Given the description of an element on the screen output the (x, y) to click on. 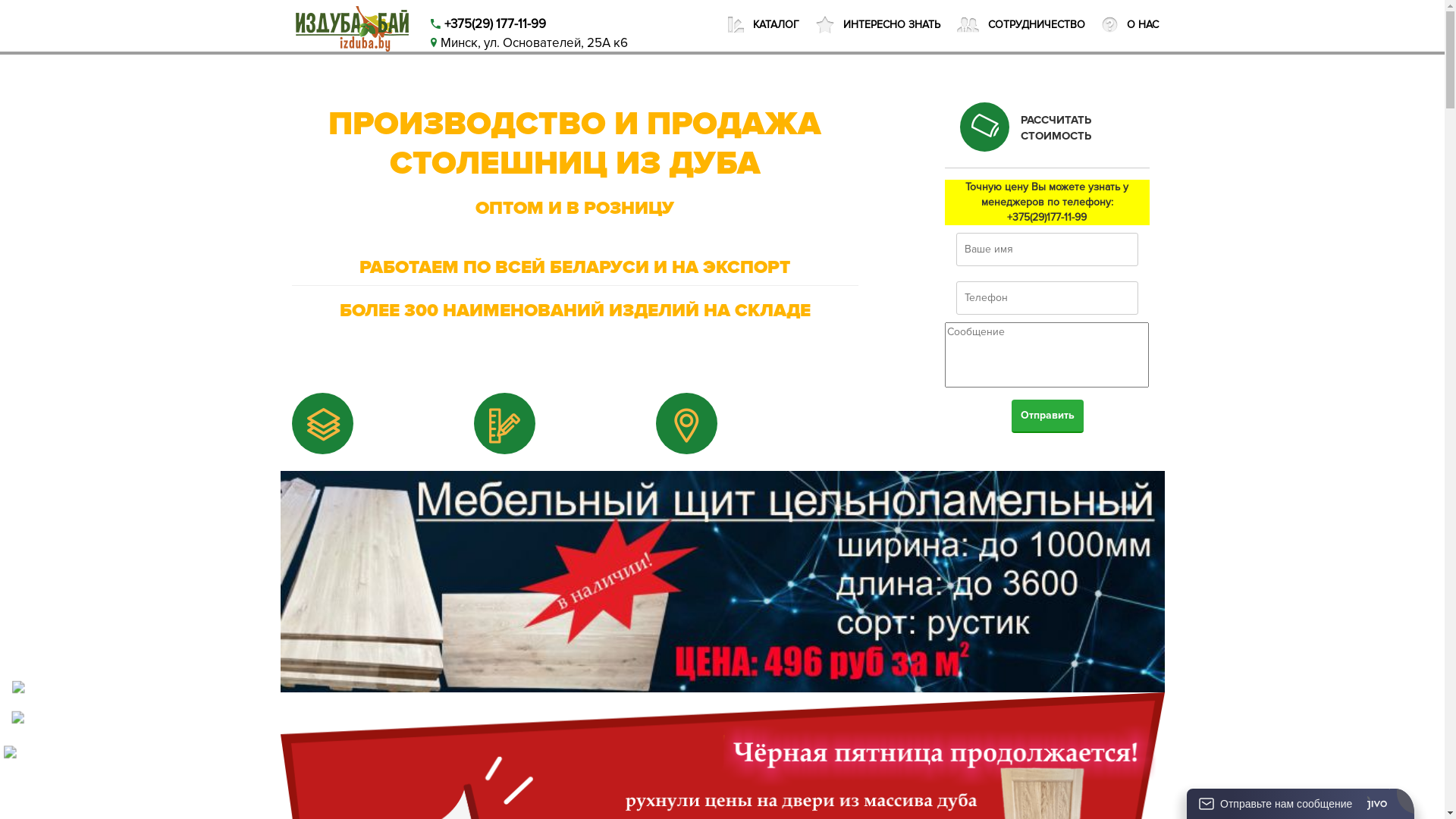
Telegram Element type: hover (129, 726)
WhatsApp Element type: hover (131, 696)
Telegram Element type: hover (128, 726)
WhatsApp Element type: hover (131, 696)
+375(29) 177-11-99 Element type: text (485, 23)
